Given the description of an element on the screen output the (x, y) to click on. 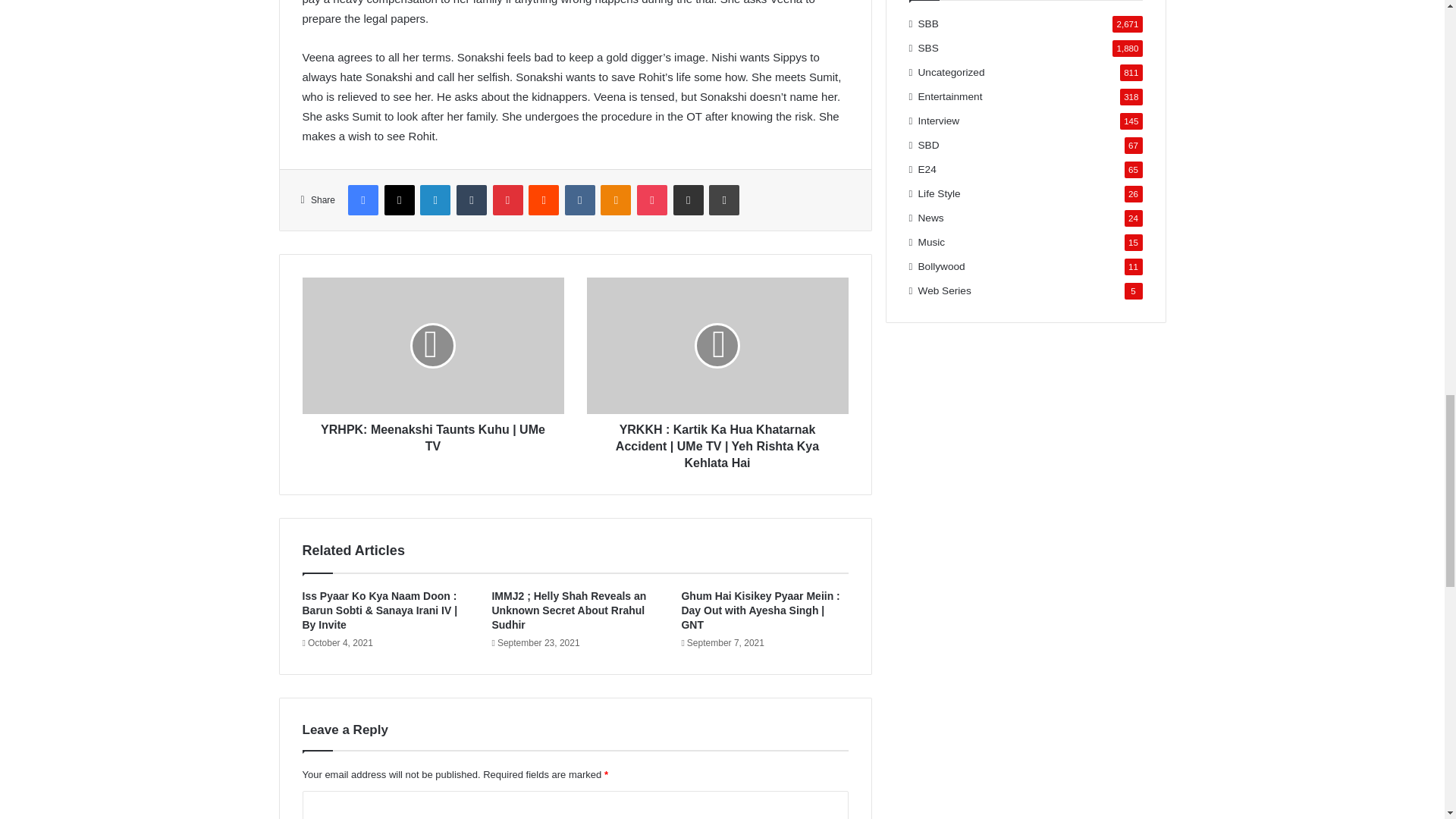
Share via Email (687, 200)
Reddit (543, 200)
VKontakte (579, 200)
LinkedIn (434, 200)
X (399, 200)
Odnoklassniki (614, 200)
Print (724, 200)
Facebook (362, 200)
Tumblr (471, 200)
Pocket (651, 200)
Pinterest (507, 200)
